Given the description of an element on the screen output the (x, y) to click on. 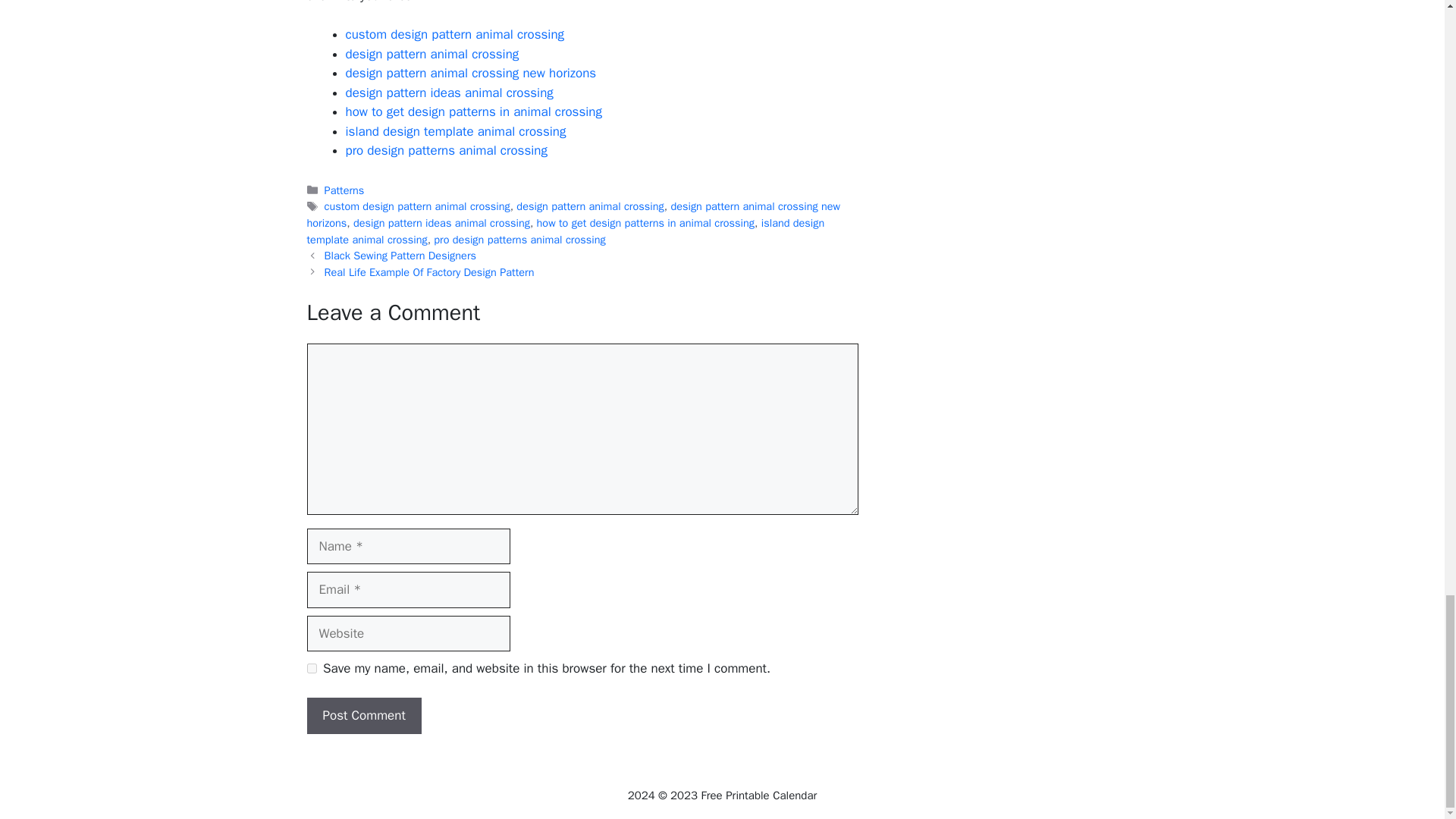
how to get design patterns in animal crossing (474, 111)
Post Comment (362, 715)
design pattern animal crossing (432, 53)
yes (310, 668)
how to get design patterns in animal crossing (645, 223)
design pattern animal crossing new horizons (471, 73)
island design template animal crossing (564, 231)
Black Sewing Pattern Designers (400, 255)
pro design patterns animal crossing (447, 150)
design pattern ideas animal crossing (449, 92)
Post Comment (362, 715)
Patterns (344, 190)
pro design patterns animal crossing (519, 239)
design pattern ideas animal crossing (441, 223)
design pattern animal crossing new horizons (572, 214)
